Given the description of an element on the screen output the (x, y) to click on. 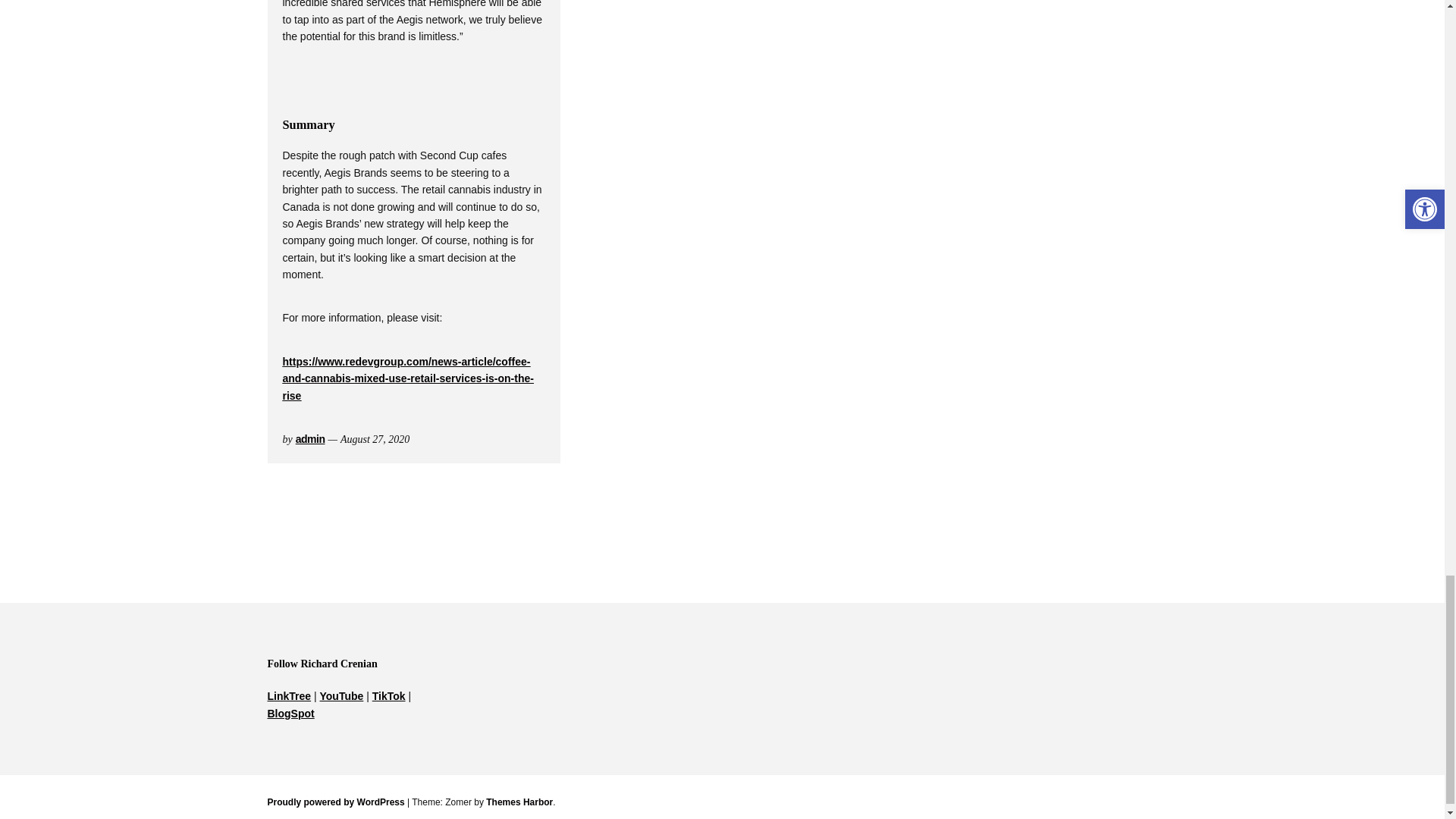
Themes Harbor (519, 801)
Proudly powered by WordPress (335, 801)
TikTok (389, 695)
admin (309, 439)
LinkTree (288, 695)
YouTube (342, 695)
BlogSpot (290, 713)
